Given the description of an element on the screen output the (x, y) to click on. 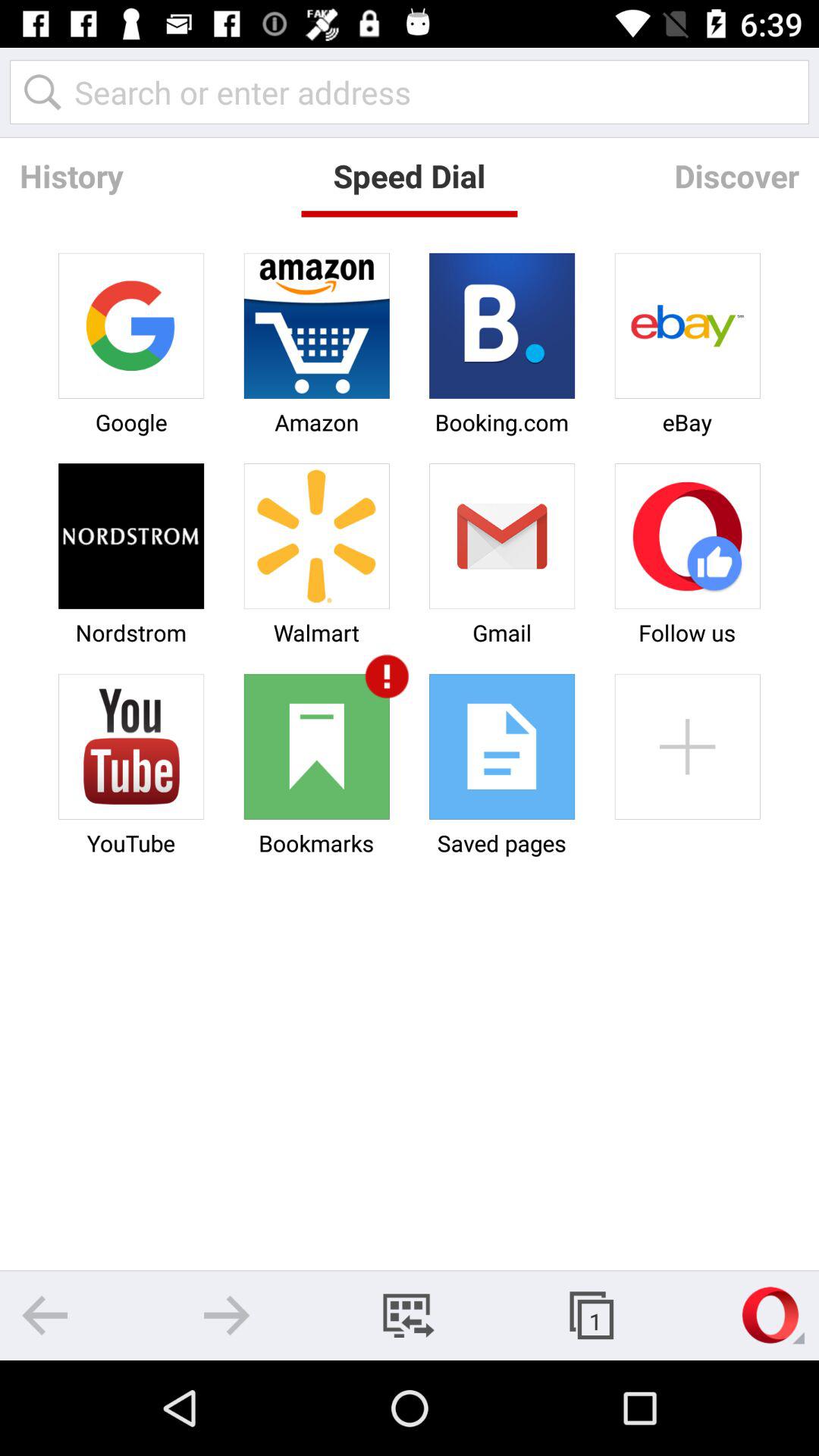
swipe until discover icon (736, 175)
